Given the description of an element on the screen output the (x, y) to click on. 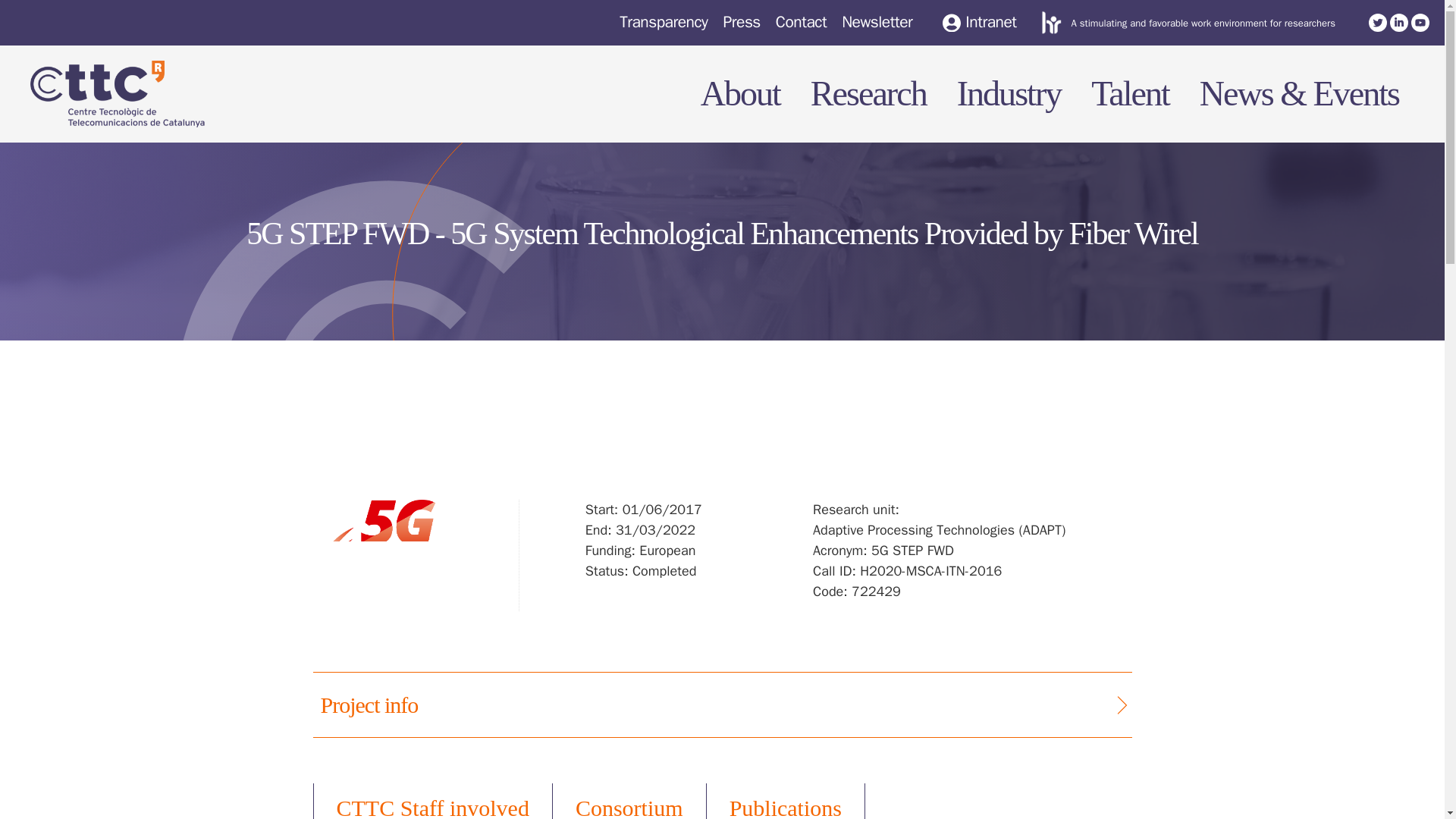
Twitter (1377, 22)
Newsletter (876, 21)
Intranet (979, 22)
A stimulating and favorable work environment for researchers (1203, 22)
Industry (1001, 87)
Contact (801, 21)
YouTube (1419, 22)
Research (860, 58)
Transparency (663, 21)
Press (741, 21)
